Given the description of an element on the screen output the (x, y) to click on. 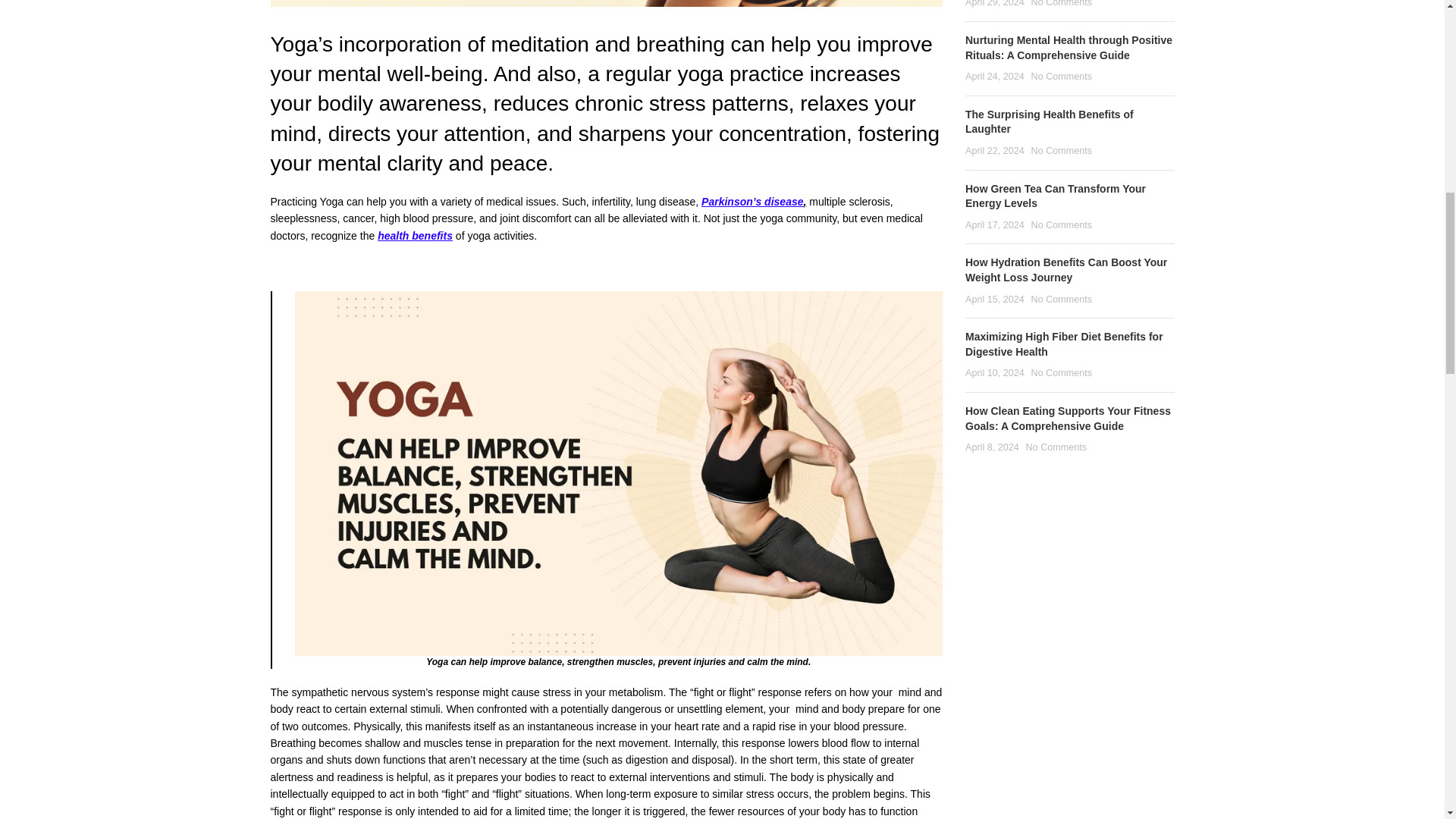
health benefits (414, 235)
